Given the description of an element on the screen output the (x, y) to click on. 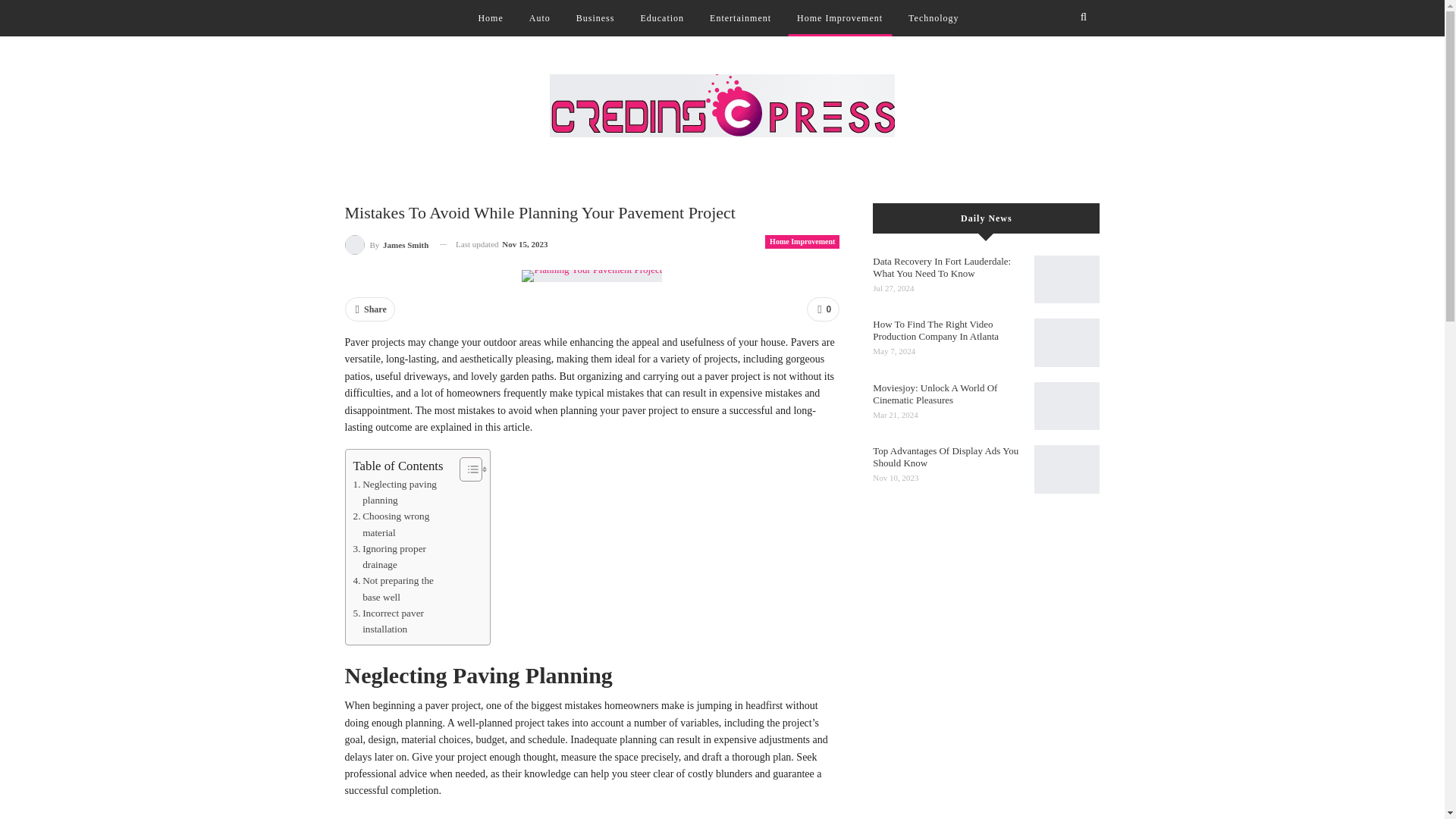
Education (661, 18)
Ignoring proper drainage (402, 556)
Home (490, 18)
Neglecting paving planning (402, 491)
Choosing wrong material (402, 523)
0 (823, 309)
Incorrect paver installation (402, 621)
Not preparing the base well (402, 588)
Choosing wrong material (402, 523)
Home Improvement (802, 241)
Auto (539, 18)
Business (595, 18)
Home Improvement (839, 18)
Technology (933, 18)
Browse Author Articles (385, 244)
